Given the description of an element on the screen output the (x, y) to click on. 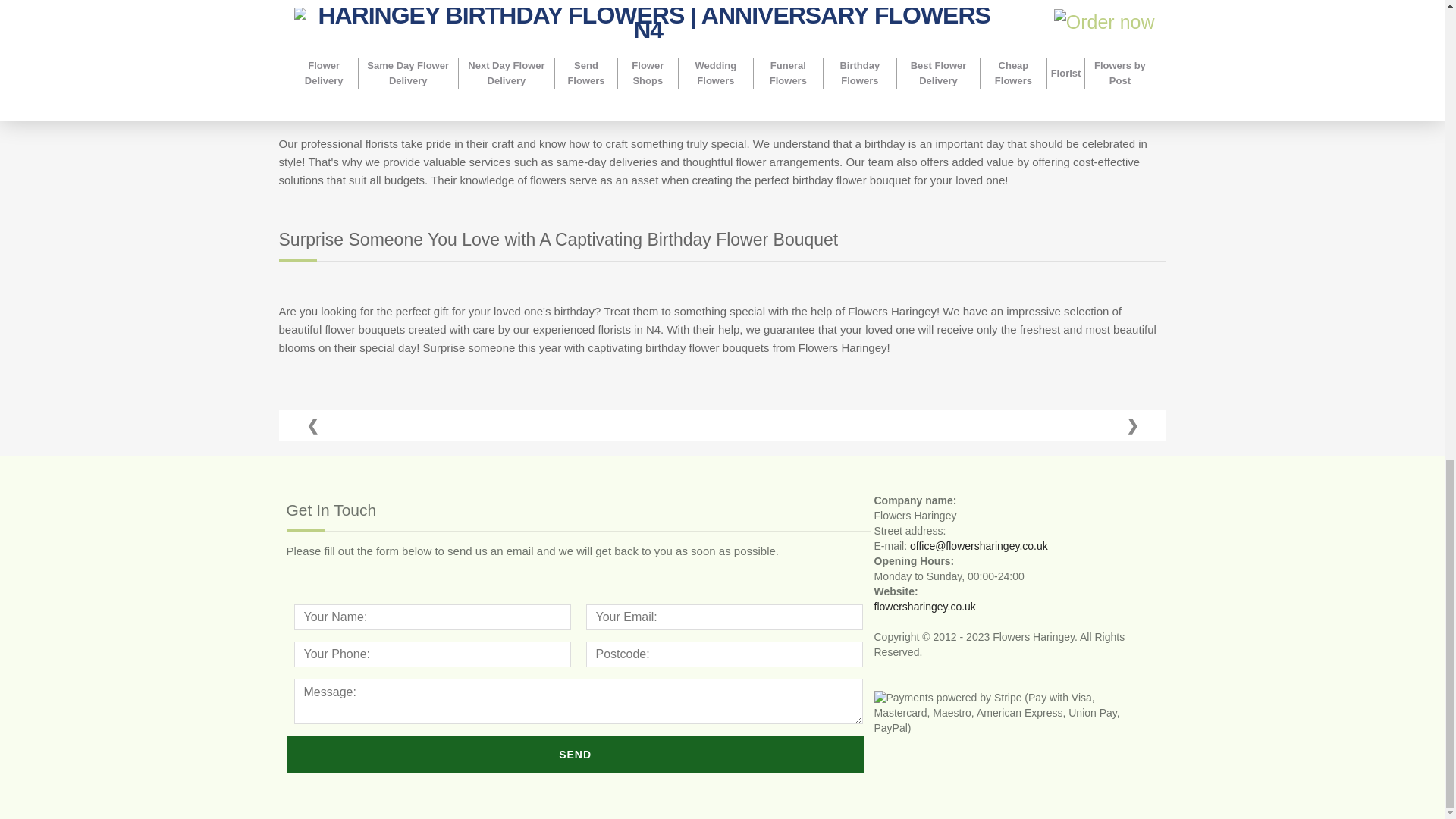
Send (575, 754)
flowersharingey.co.uk (924, 606)
Send E-mail (979, 545)
Send (575, 754)
Flowers Haringey website (924, 606)
